Given the description of an element on the screen output the (x, y) to click on. 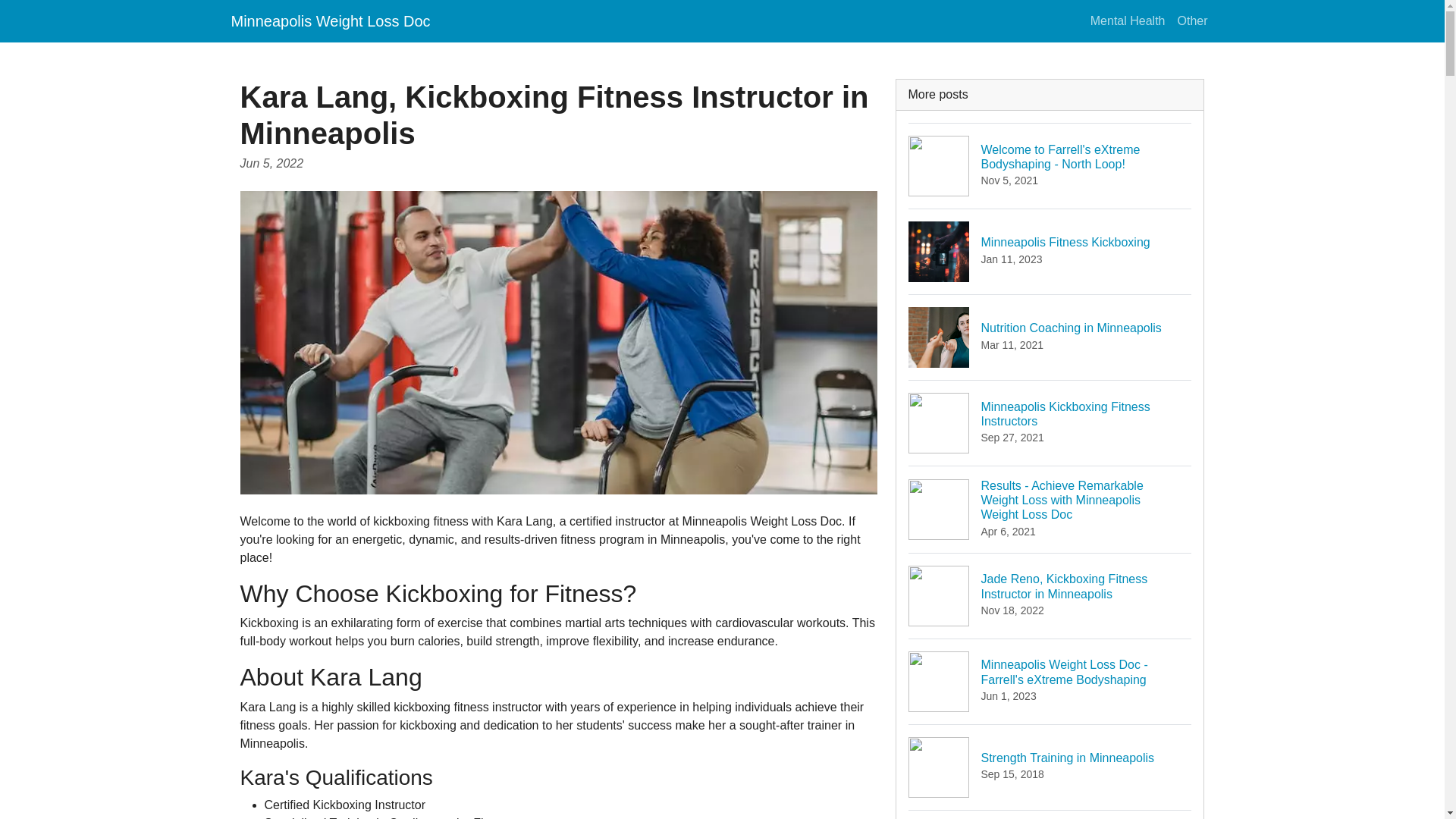
Mental Health (1128, 20)
Other (1050, 766)
Minneapolis Weight Loss Doc (1050, 814)
